Given the description of an element on the screen output the (x, y) to click on. 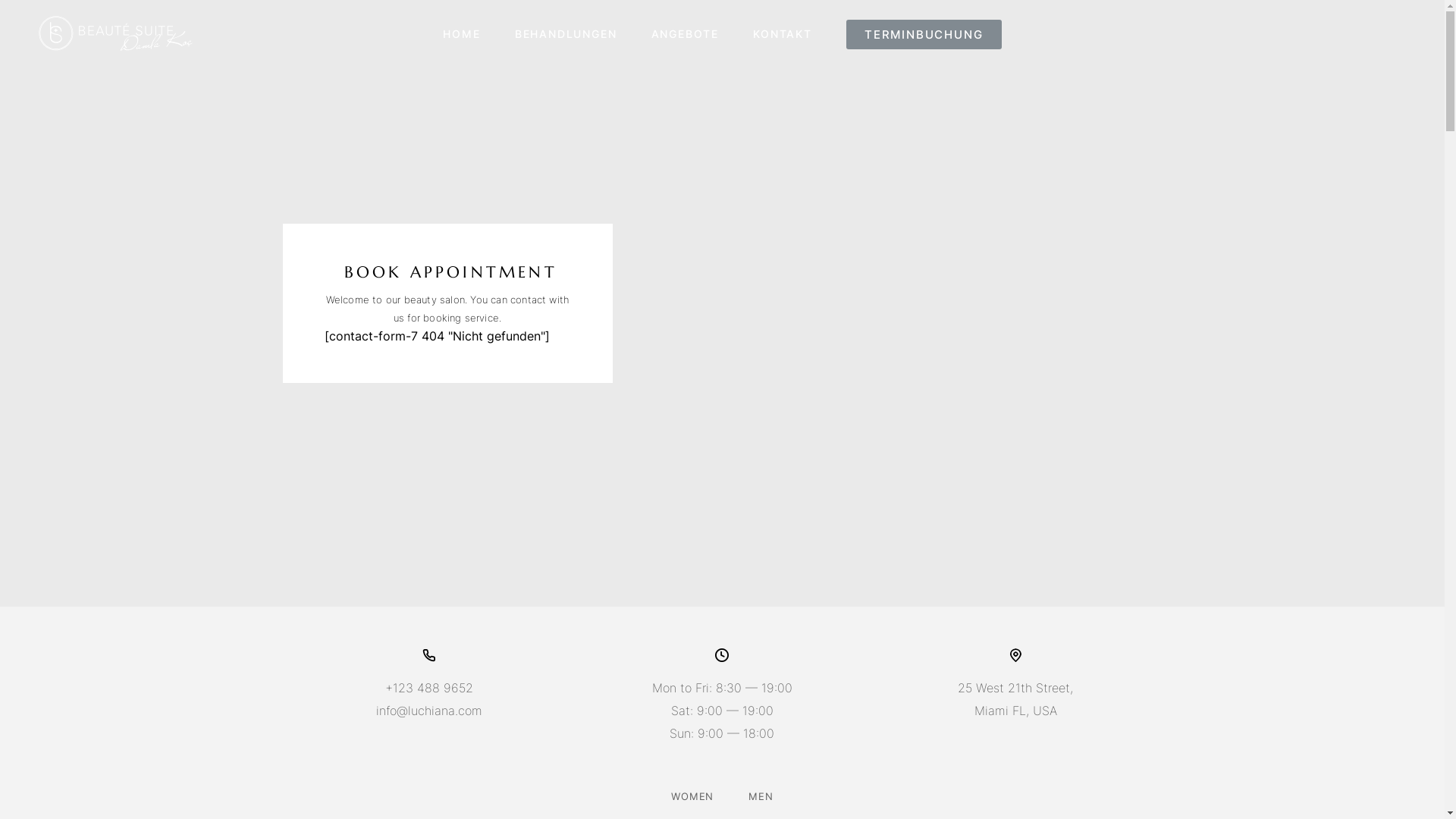
BEHANDLUNGEN Element type: text (565, 34)
MEN Element type: text (760, 796)
KONTAKT Element type: text (782, 34)
TERMINBUCHUNG Element type: text (923, 34)
ANGEBOTE Element type: text (685, 34)
HOME Element type: text (461, 34)
WOMEN Element type: text (692, 796)
